Given the description of an element on the screen output the (x, y) to click on. 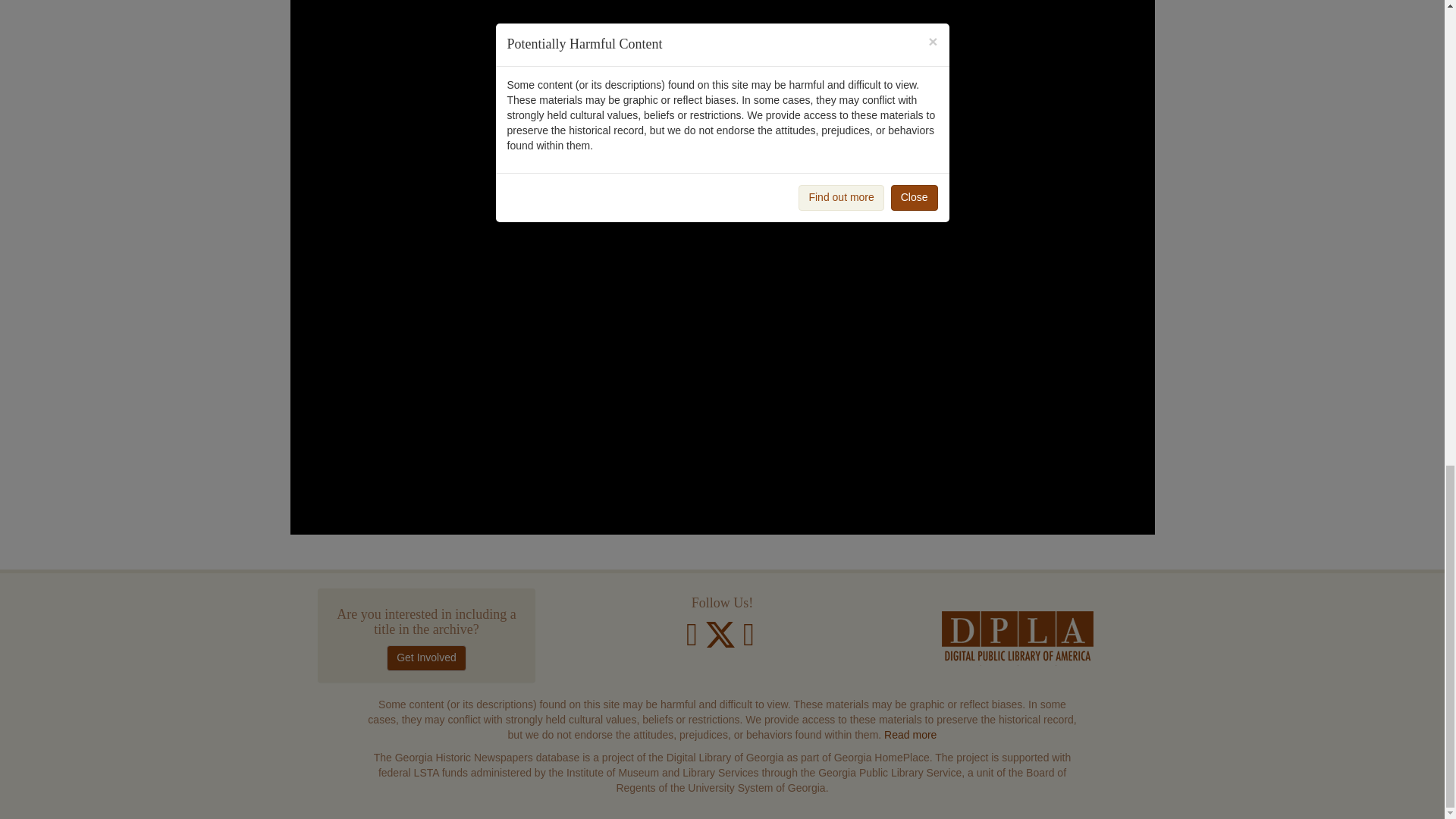
DLG Facebook Link (691, 641)
DLG Blog (748, 641)
DLG Twitter Link (721, 641)
DPLA Link (1017, 637)
